Given the description of an element on the screen output the (x, y) to click on. 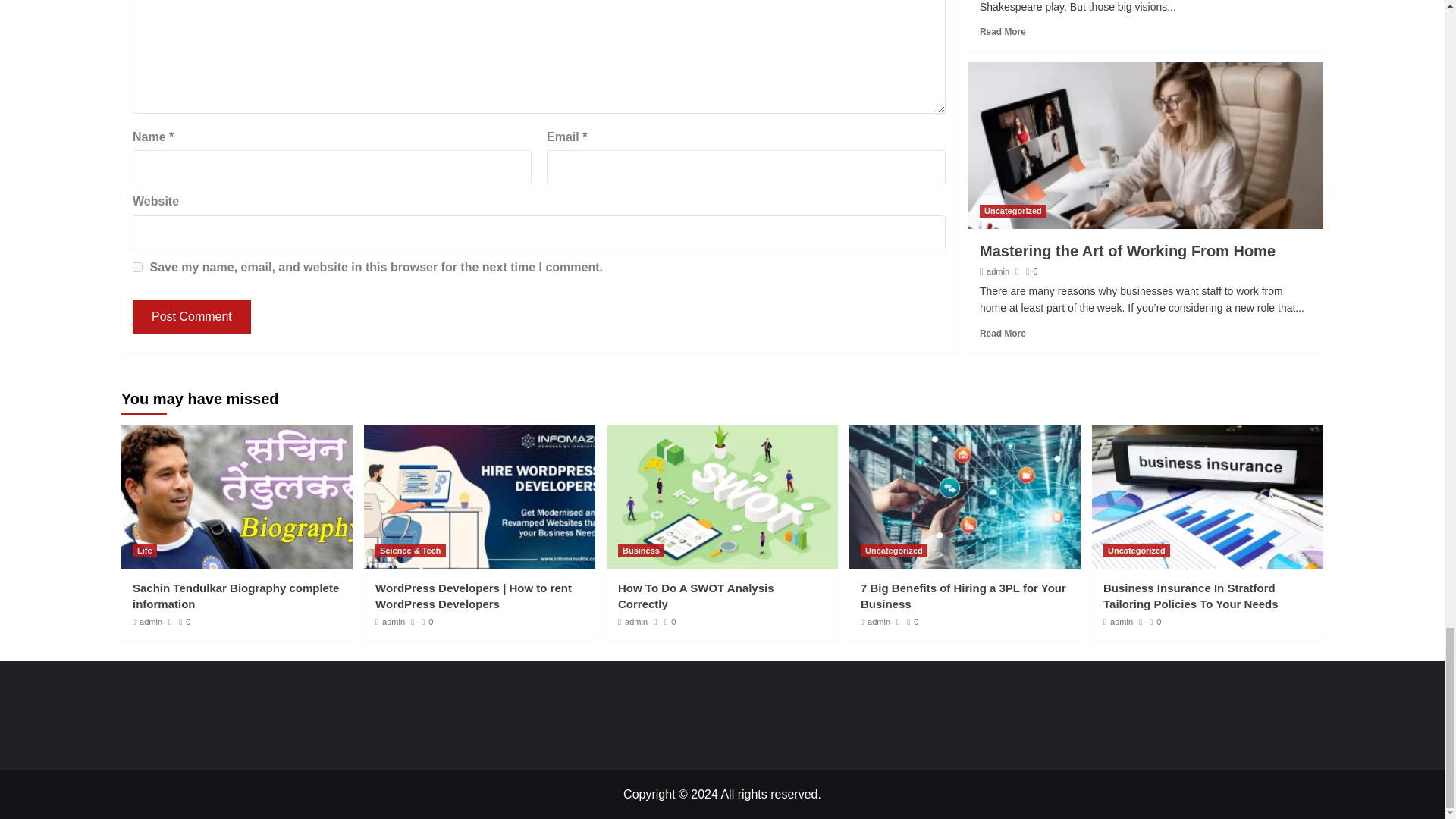
Post Comment (191, 316)
yes (137, 266)
